Given the description of an element on the screen output the (x, y) to click on. 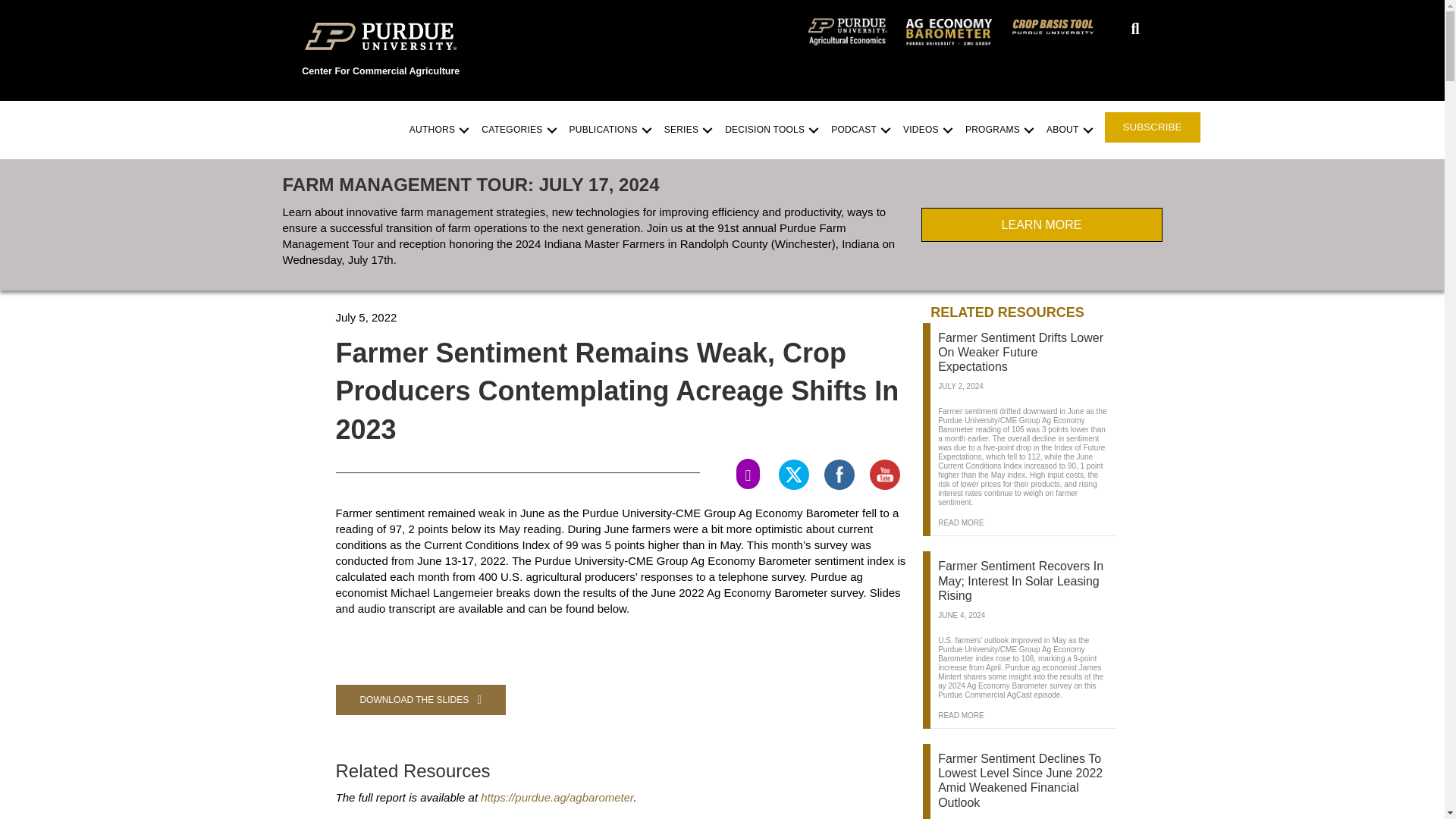
Center For Commercial Agriculture (380, 71)
AUTHORS (437, 130)
SERIES (686, 130)
PUBLICATIONS (609, 130)
CATEGORIES (517, 130)
